Given the description of an element on the screen output the (x, y) to click on. 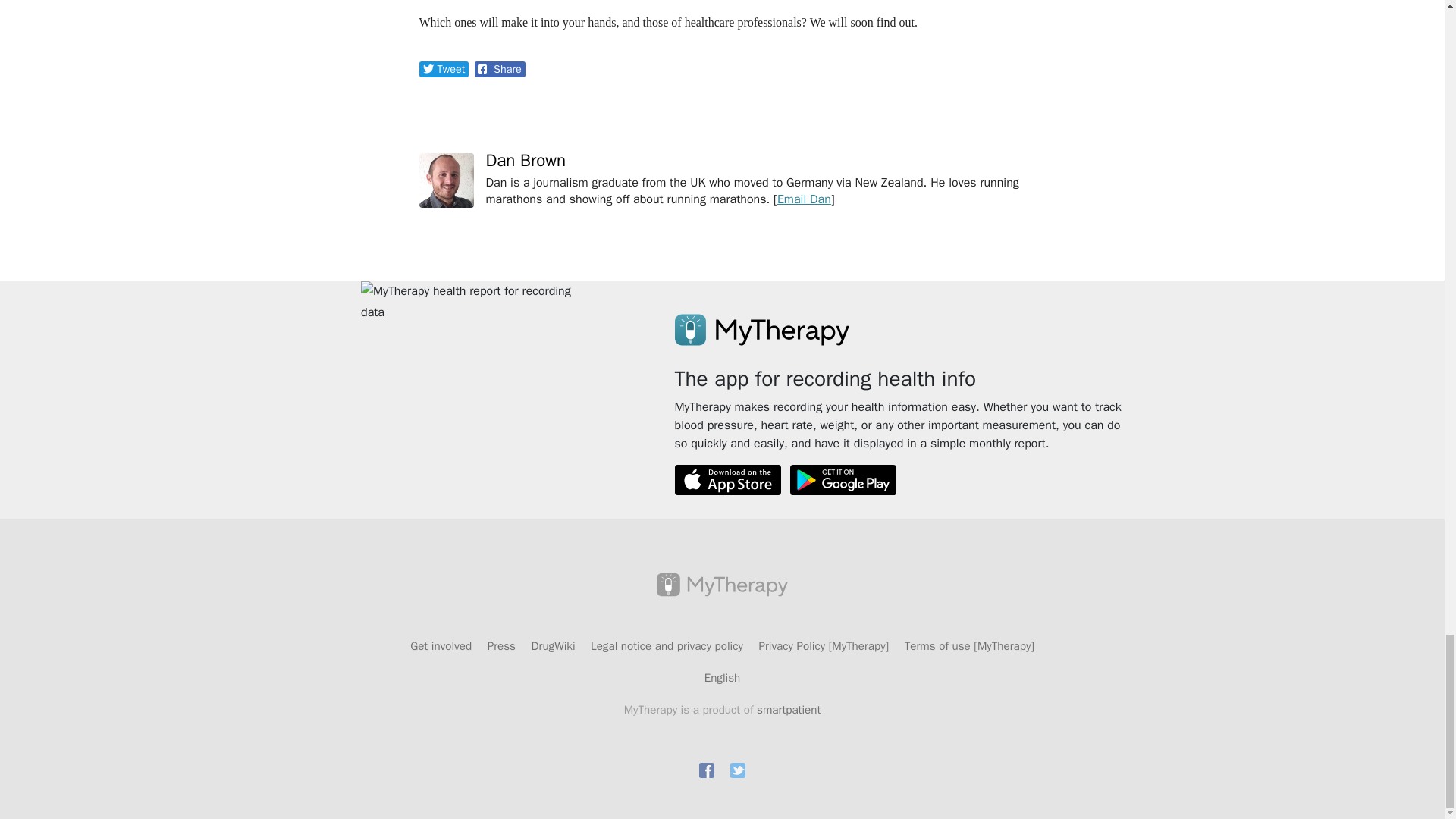
Share (499, 69)
Get involved (443, 645)
smartpatient (789, 709)
Press (503, 645)
Email Dan (804, 199)
Legal notice and privacy policy (668, 645)
Tweet (443, 69)
English (722, 677)
DrugWiki (555, 645)
